Given the description of an element on the screen output the (x, y) to click on. 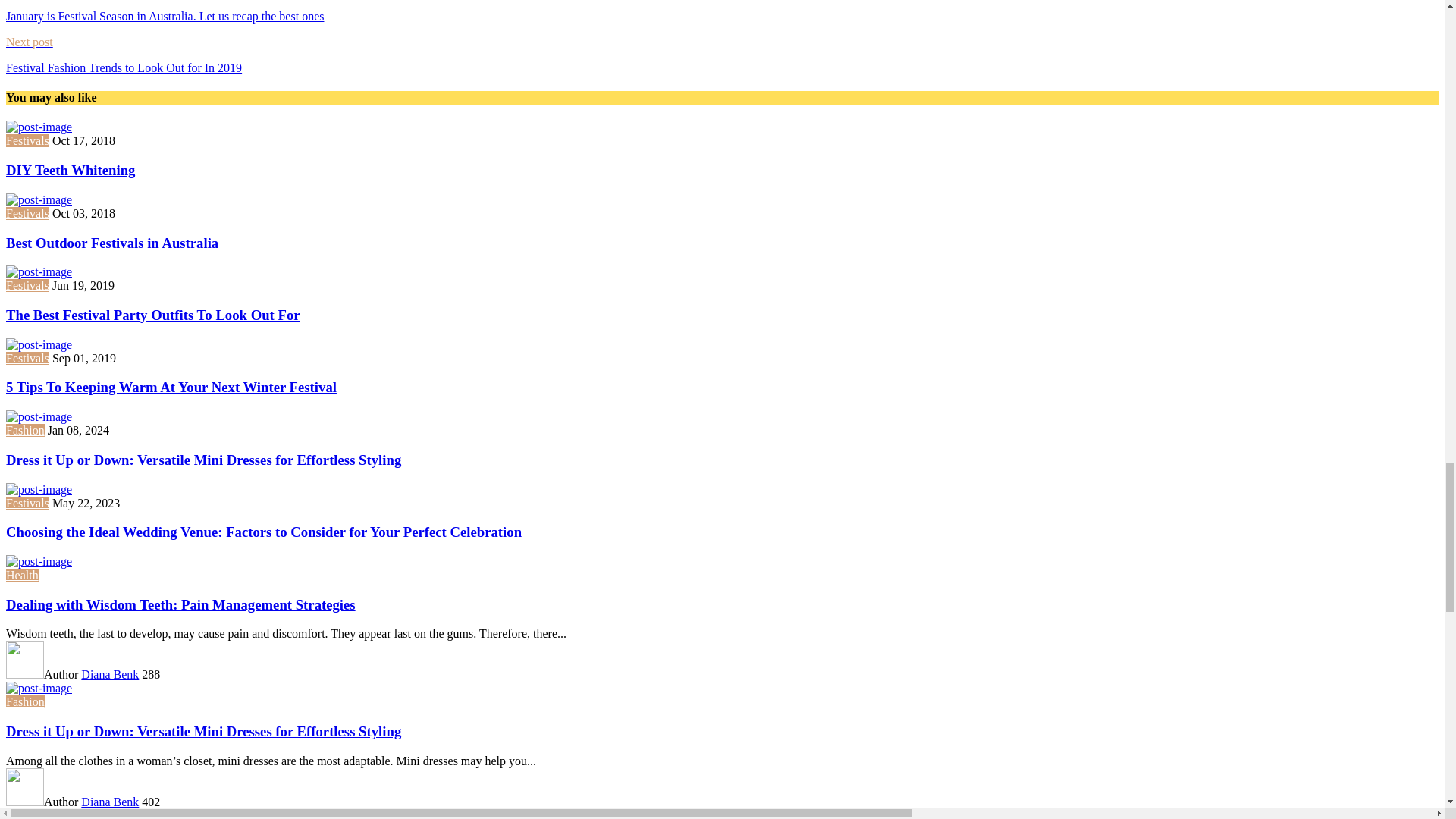
prev post (721, 11)
DIY Teeth Whitening (70, 170)
Festivals (27, 140)
next post (721, 55)
